Given the description of an element on the screen output the (x, y) to click on. 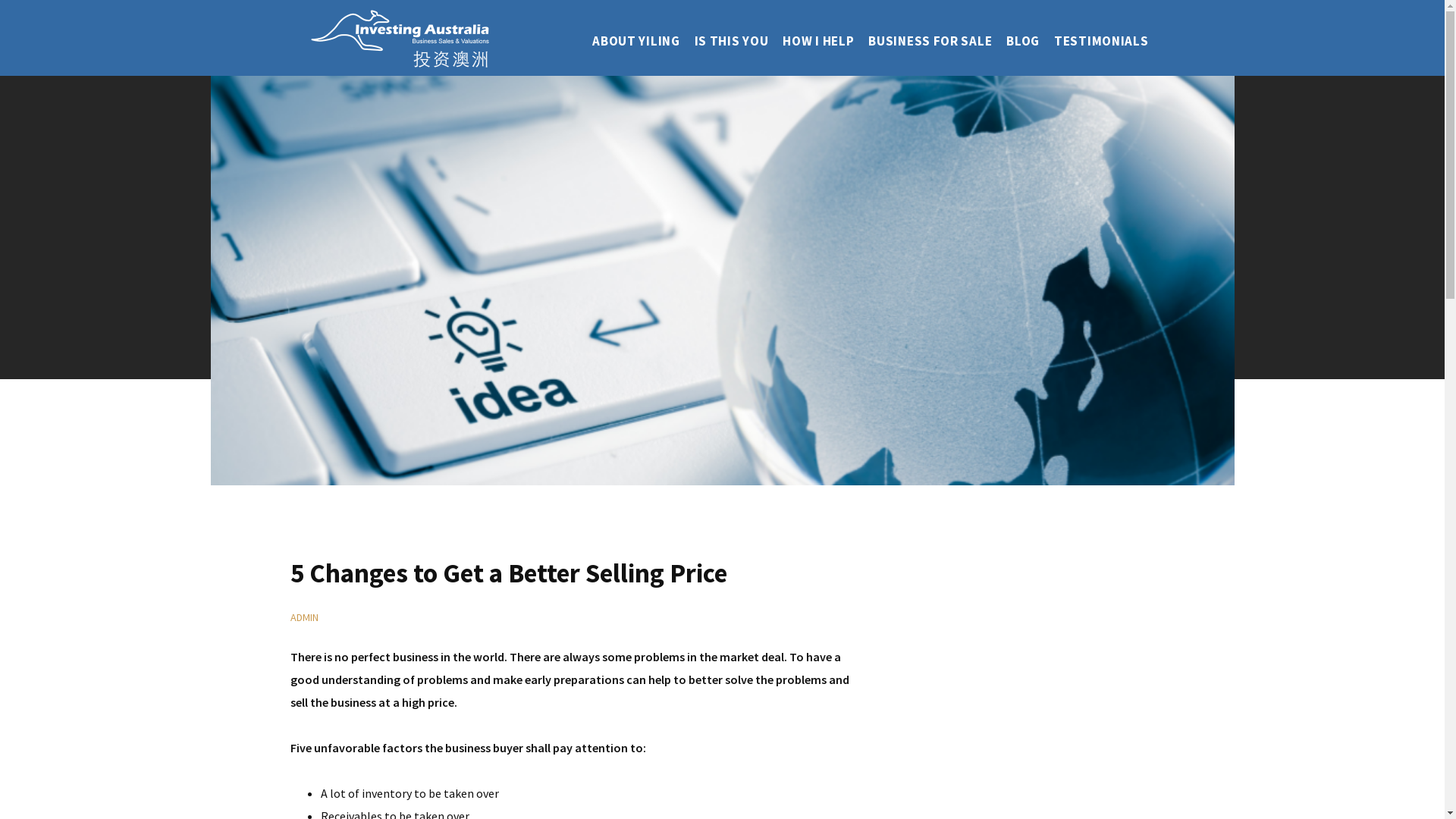
INVESTING AUSTRALIA Element type: text (403, 37)
ABOUT YILING Element type: text (635, 41)
Skip to primary navigation Element type: text (0, 0)
ADMIN Element type: text (303, 617)
TESTIMONIALS Element type: text (1101, 41)
BLOG Element type: text (1022, 41)
IS THIS YOU Element type: text (731, 41)
BUSINESS FOR SALE Element type: text (929, 41)
HOW I HELP Element type: text (817, 41)
